Given the description of an element on the screen output the (x, y) to click on. 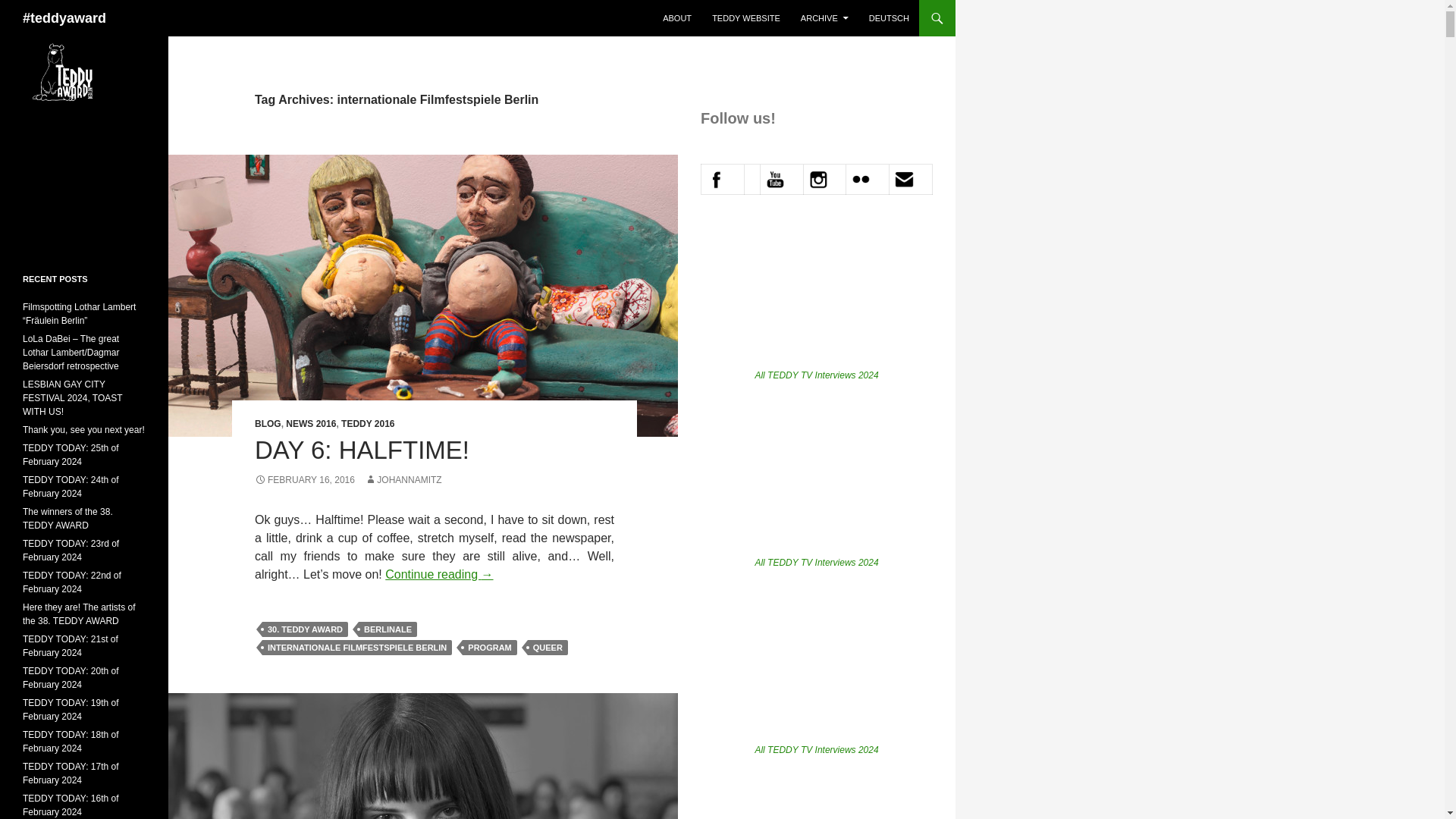
30. TEDDY AWARD (304, 629)
DAY 6: HALFTIME! (361, 449)
BLOG (267, 423)
ARCHIVE (824, 18)
NEWS 2016 (310, 423)
ABOUT (676, 18)
INTERNATIONALE FILMFESTSPIELE BERLIN (356, 647)
BERLINALE (387, 629)
Interview with Ray Yeung, director of "ALL SHALL BE WELL" (816, 295)
JOHANNAMITZ (403, 480)
